Given the description of an element on the screen output the (x, y) to click on. 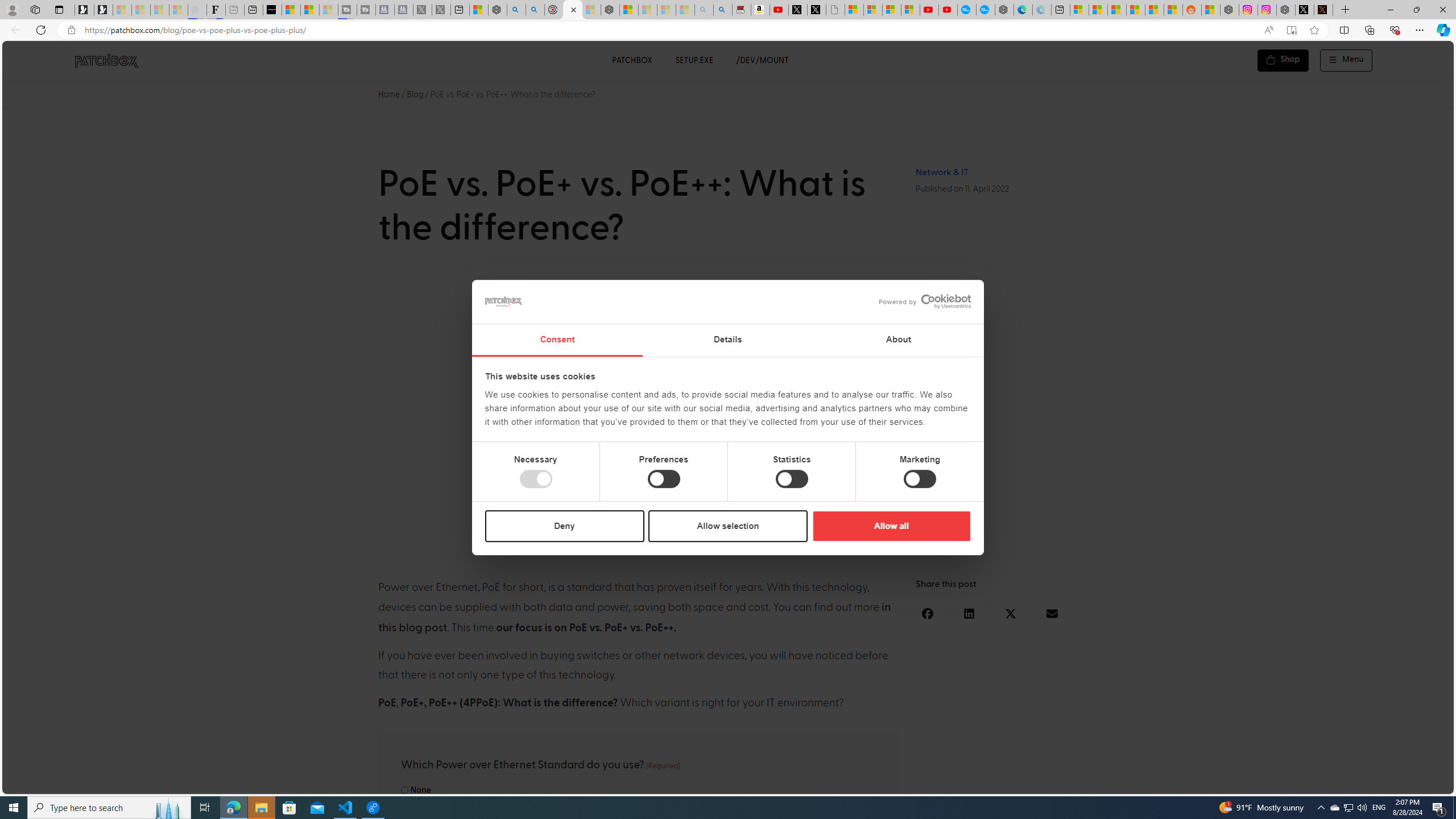
Untitled (835, 9)
Language switcher : Slovenian (1333, 782)
SETUP.EXE (694, 60)
logo - opens in a new window (920, 301)
Shop (1282, 60)
Share on linkedin (968, 613)
Powered by Cookiebot (925, 301)
Language switcher : Swedish (1356, 782)
